Given the description of an element on the screen output the (x, y) to click on. 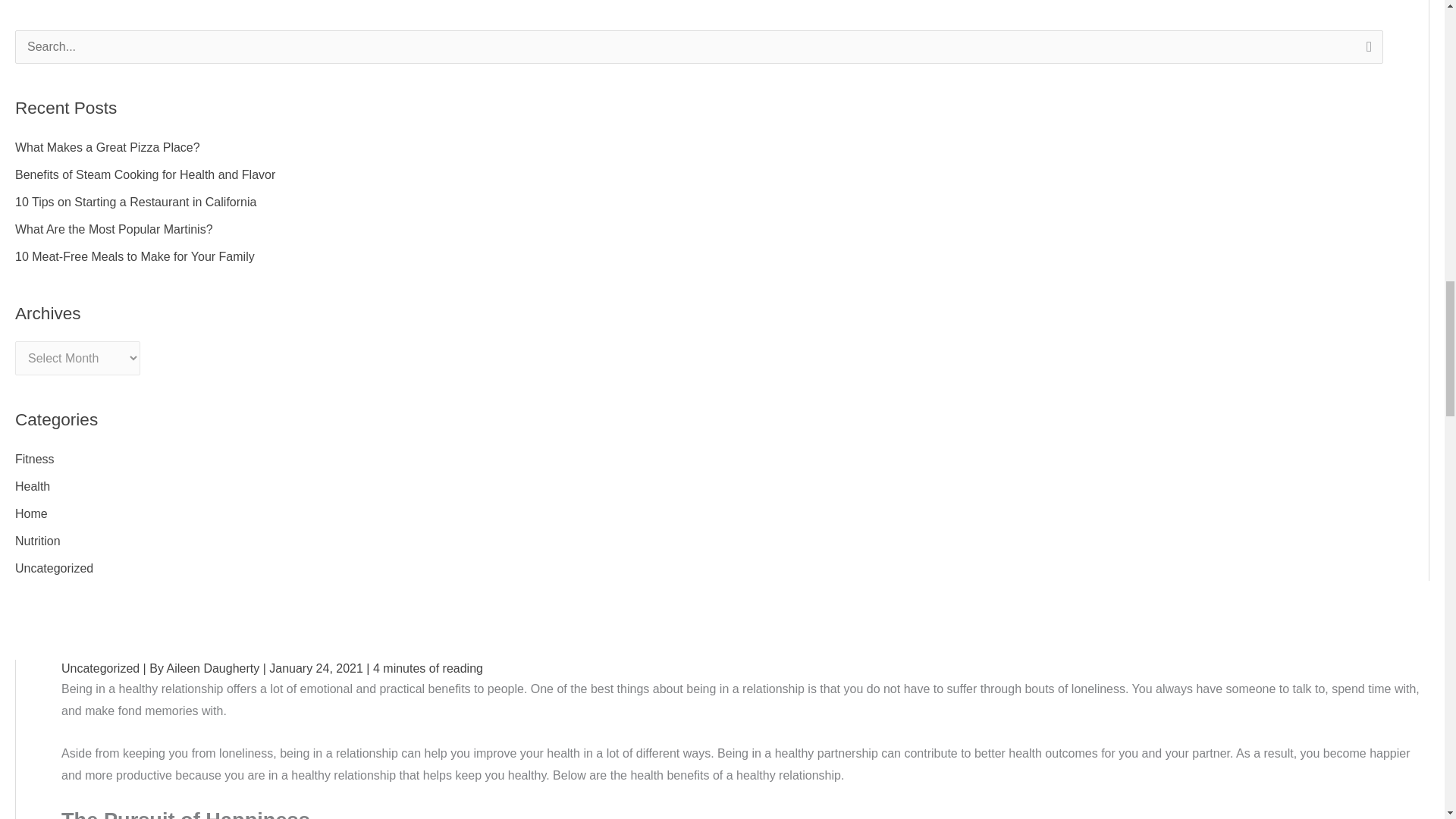
What Makes a Great Pizza Place? (107, 146)
Nutrition (37, 540)
10 Tips on Starting a Restaurant in California (135, 201)
Uncategorized (100, 667)
10 Meat-Free Meals to Make for Your Family (134, 256)
View all posts by Aileen Daugherty (213, 667)
Fitness (34, 459)
Uncategorized (53, 567)
Aileen Daugherty (213, 667)
Home (31, 513)
Health (31, 486)
Benefits of Steam Cooking for Health and Flavor (144, 174)
What Are the Most Popular Martinis? (113, 228)
